Given the description of an element on the screen output the (x, y) to click on. 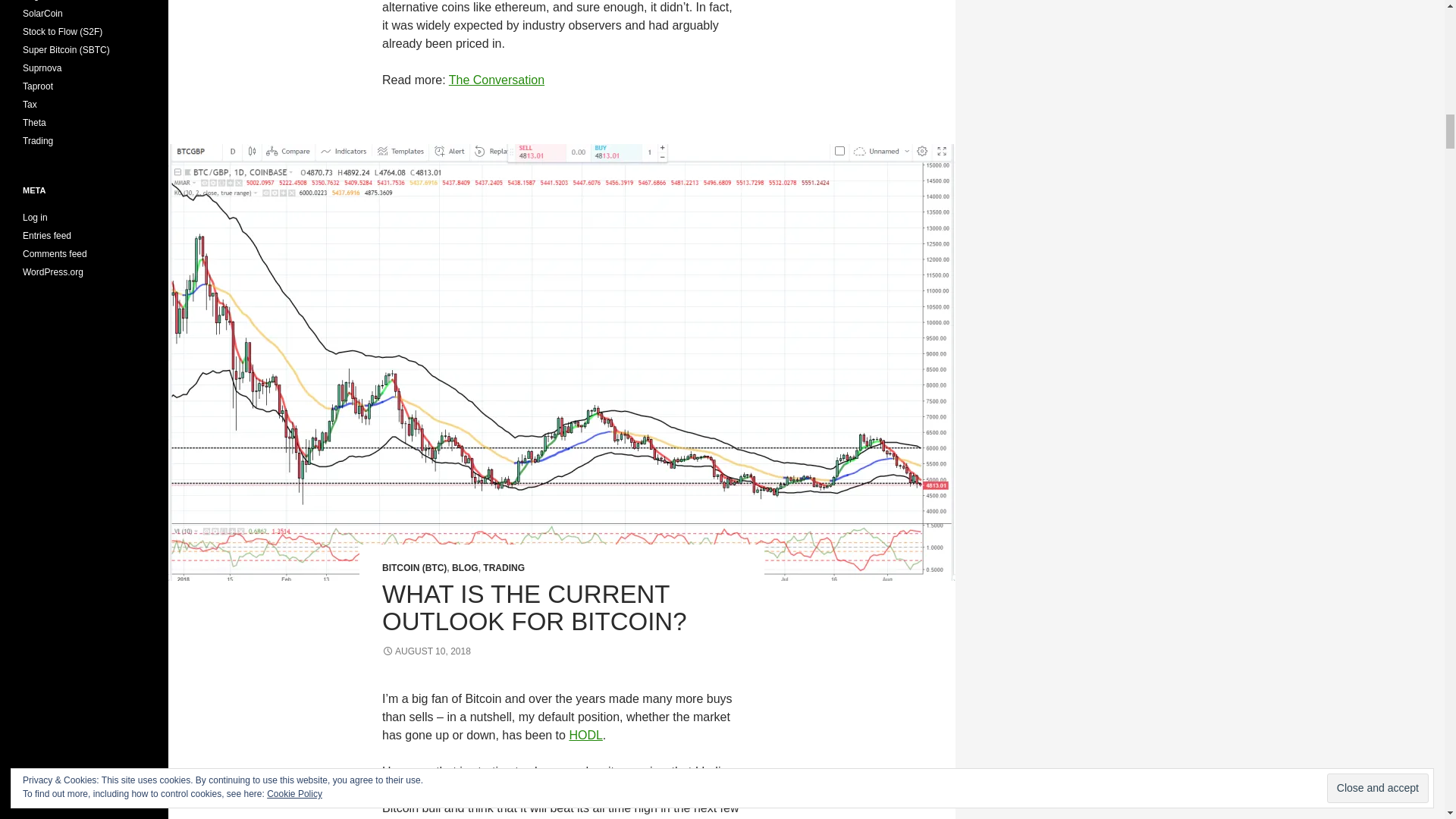
The Conversation (496, 79)
WHAT IS THE CURRENT OUTLOOK FOR BITCOIN? (534, 607)
TRADING (503, 567)
HODL (585, 735)
BLOG (465, 567)
AUGUST 10, 2018 (425, 651)
